Given the description of an element on the screen output the (x, y) to click on. 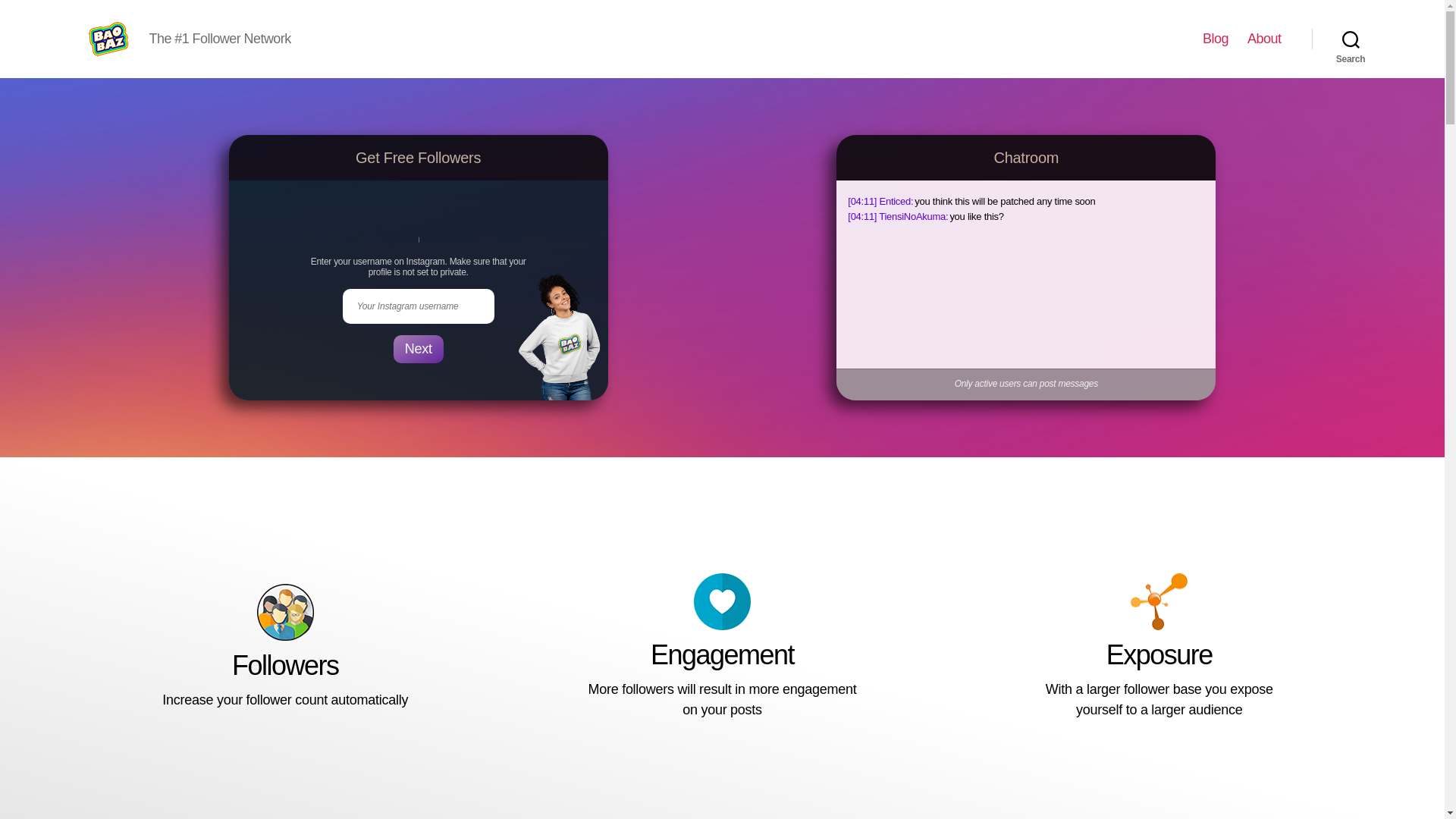
Search (1350, 39)
About (1264, 39)
Blog (1215, 39)
